Given the description of an element on the screen output the (x, y) to click on. 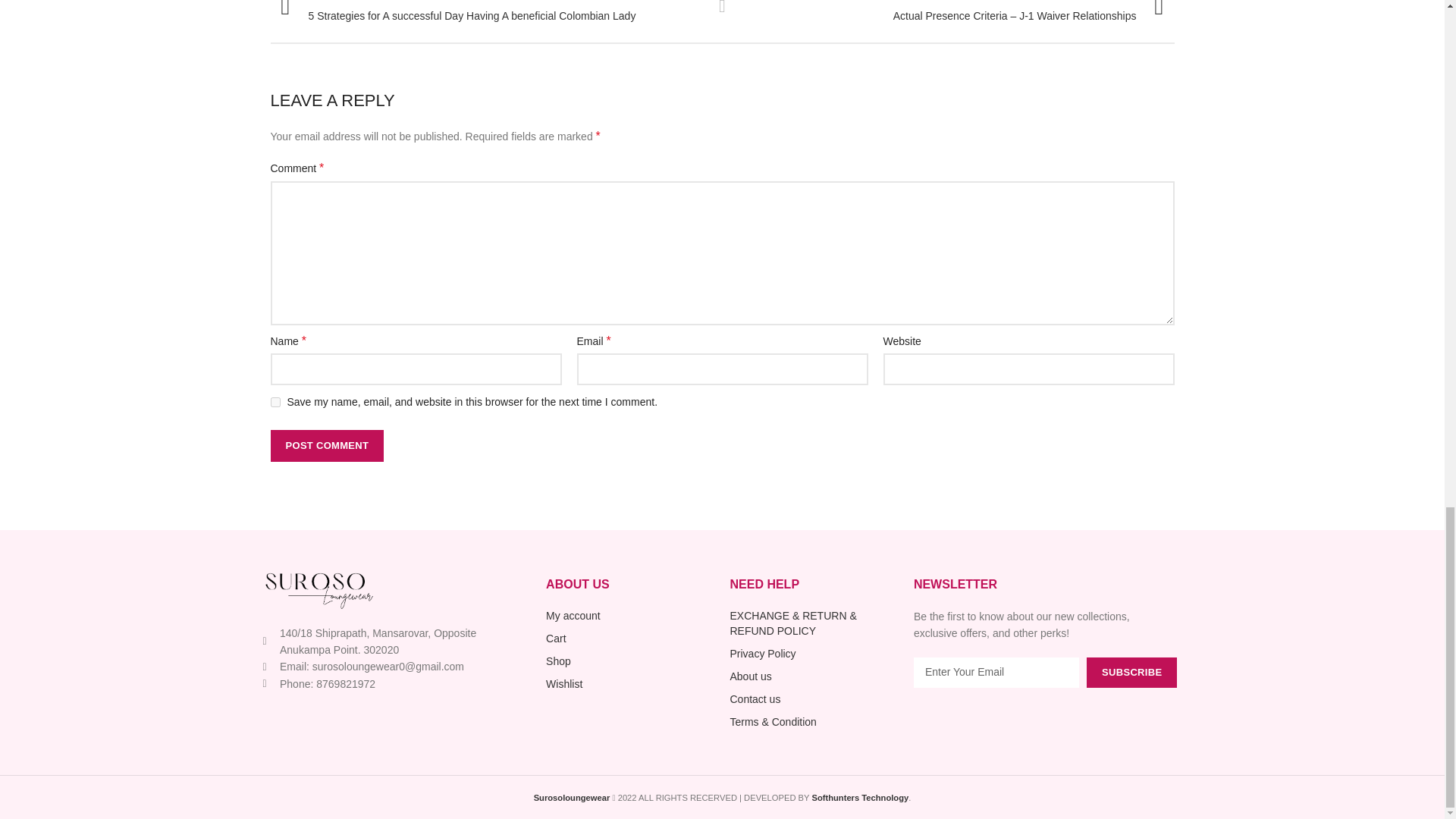
Shop (630, 661)
Post Comment (326, 445)
Post Comment (326, 445)
Back to list (722, 8)
My account (630, 615)
Wishlist (630, 683)
Cart (630, 638)
yes (274, 402)
